Given the description of an element on the screen output the (x, y) to click on. 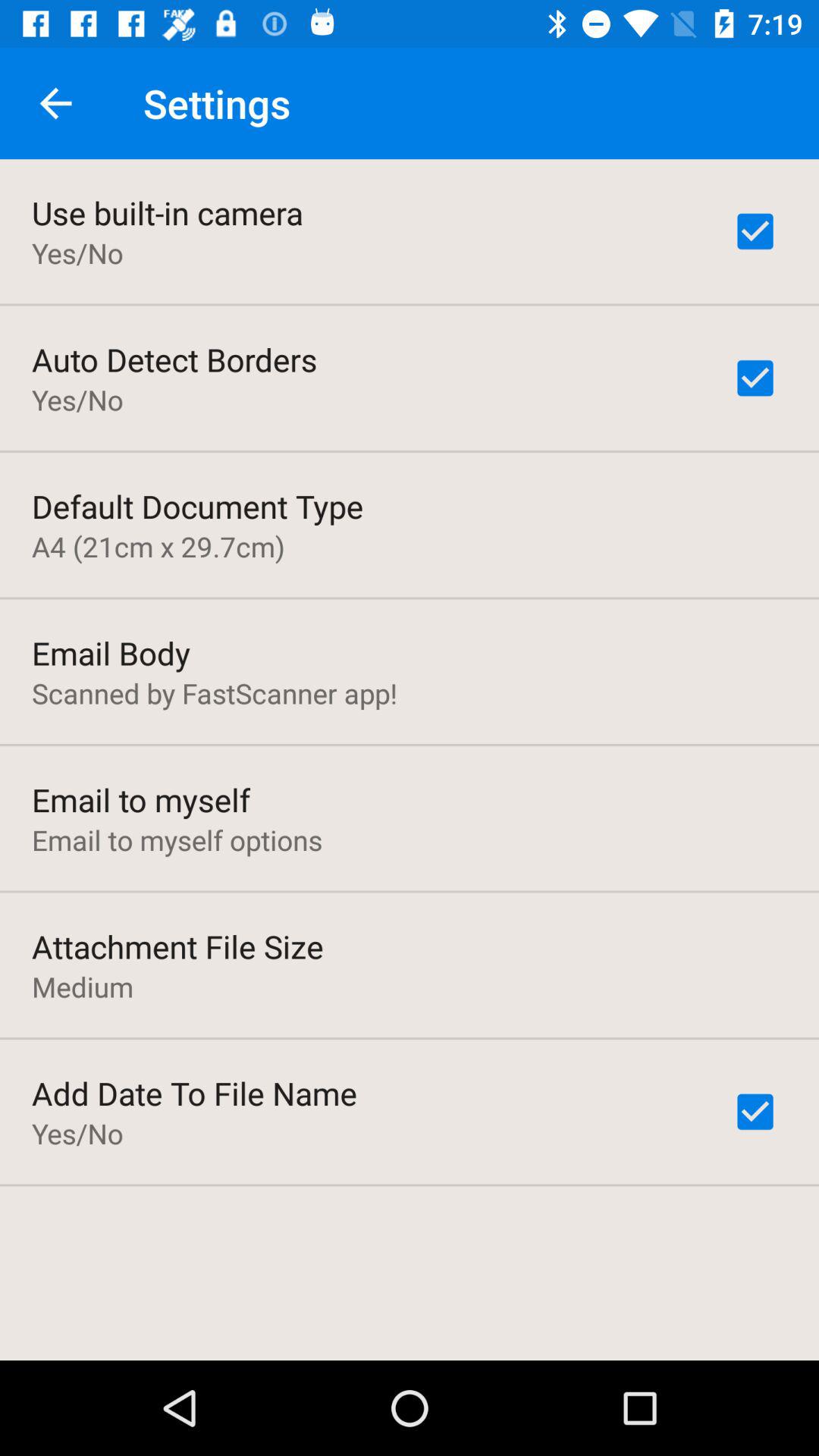
scroll to the scanned by fastscanner (214, 693)
